Given the description of an element on the screen output the (x, y) to click on. 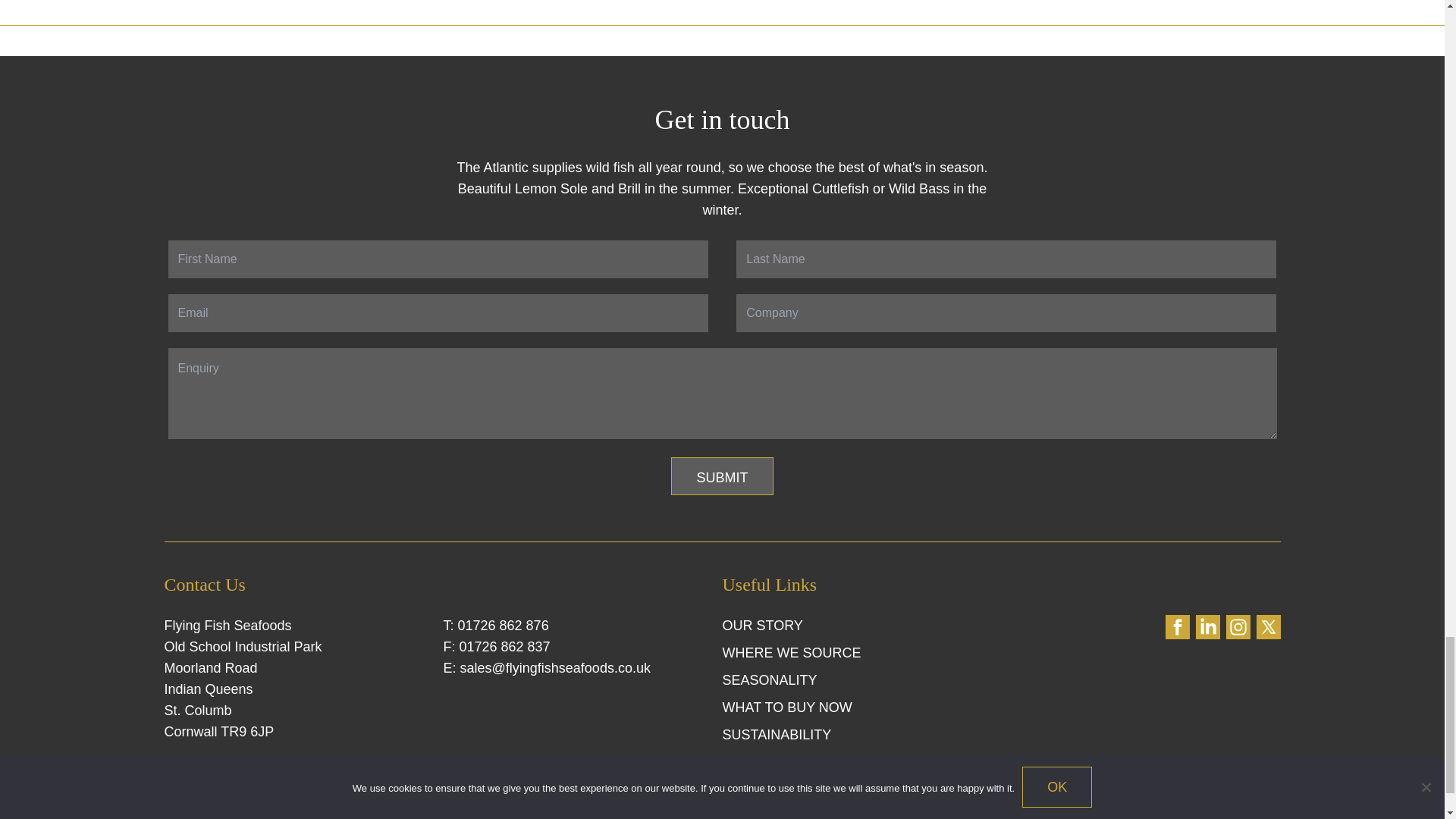
01726 862 837 (505, 646)
01726 862 876 (503, 625)
GDPR Policy (568, 812)
Privacy Policy (363, 812)
SUSTAINABILITY (776, 734)
SEASONALITY (769, 679)
WHAT TO BUY NOW (786, 707)
Submit (722, 476)
OUR STORY (762, 625)
WHERE WE SOURCE (791, 652)
Submit (722, 476)
